Given the description of an element on the screen output the (x, y) to click on. 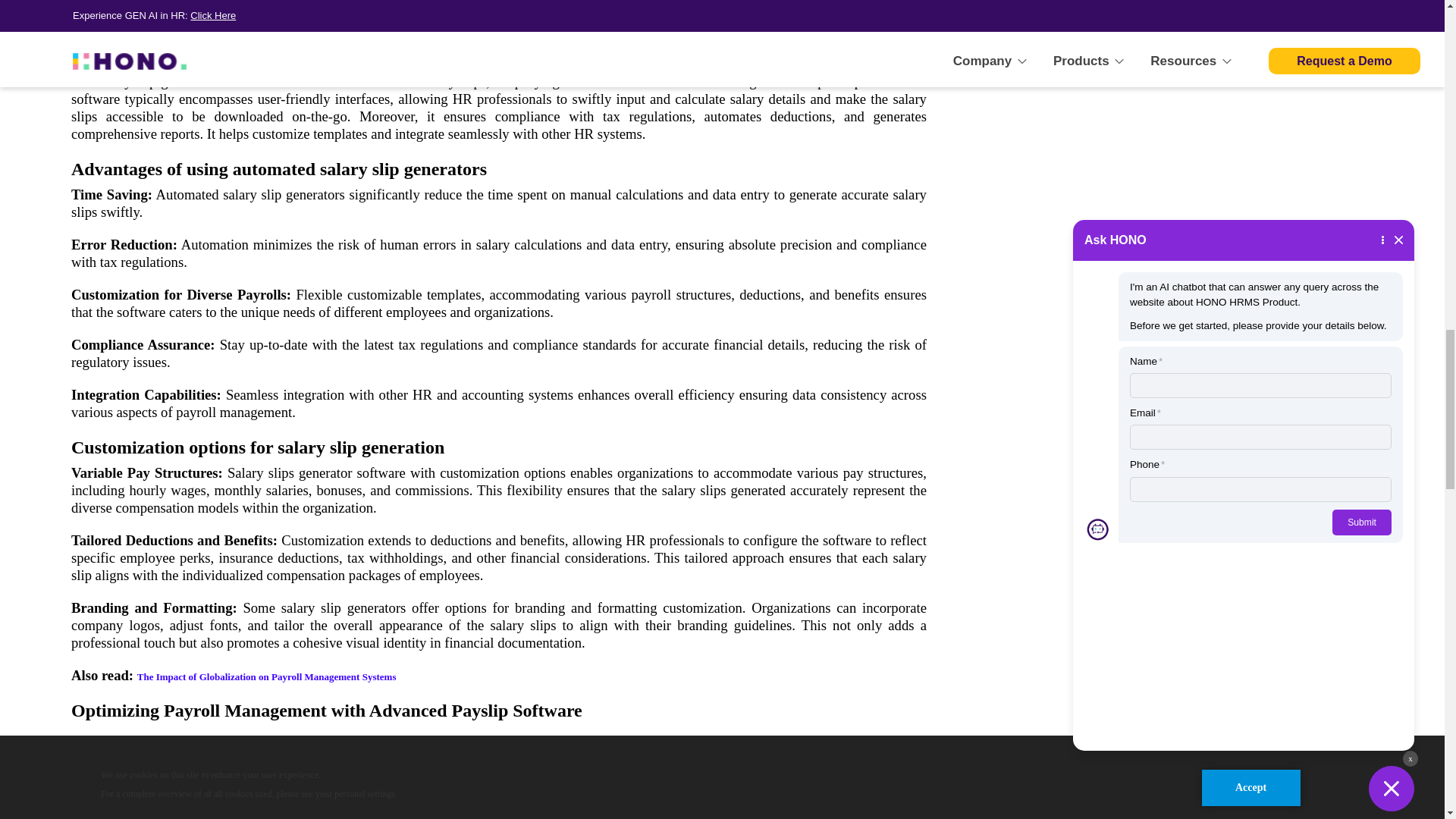
The Impact of Globalization on Payroll Management Systems (266, 676)
